Given the description of an element on the screen output the (x, y) to click on. 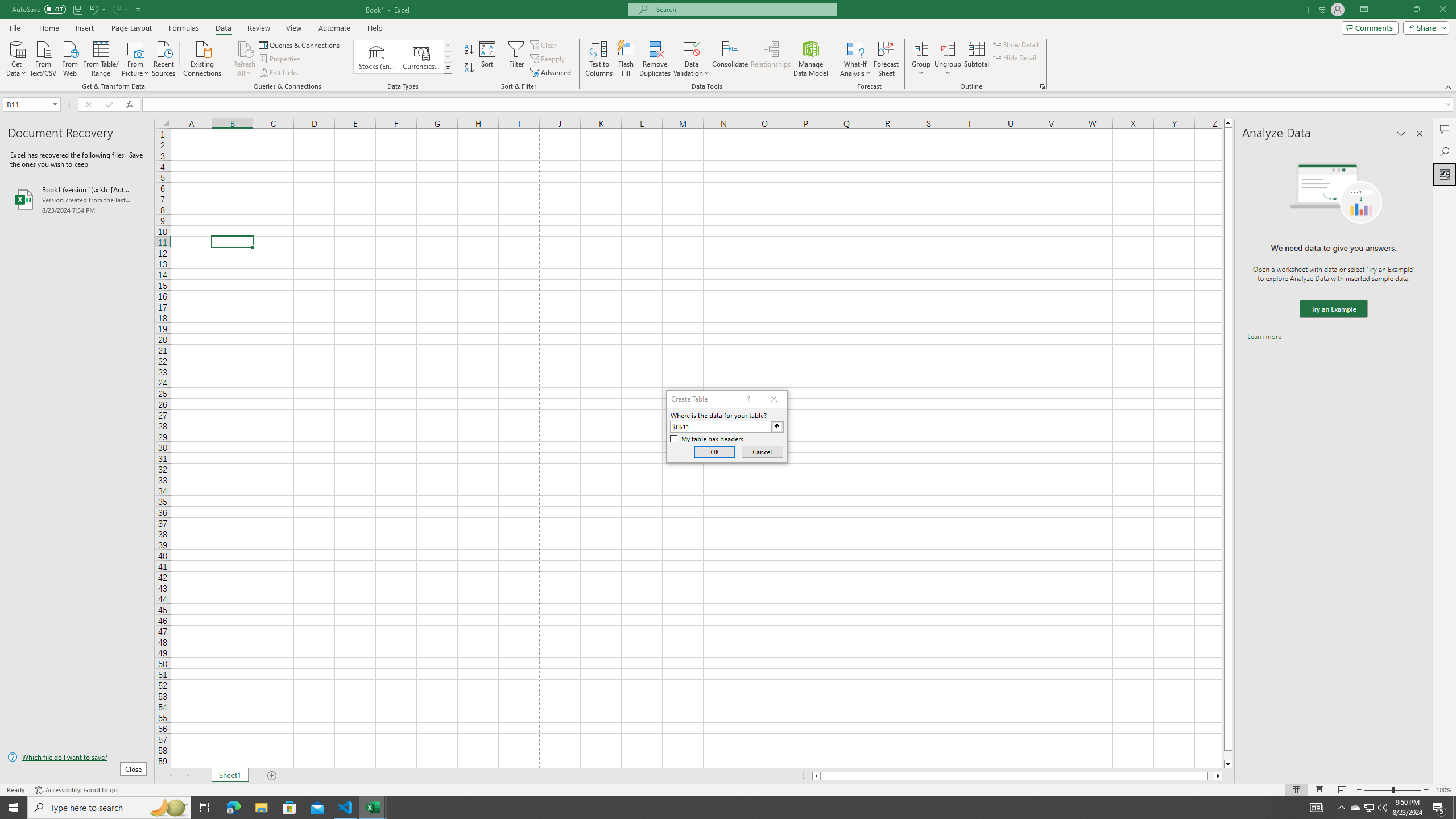
Consolidate... (729, 58)
